Given the description of an element on the screen output the (x, y) to click on. 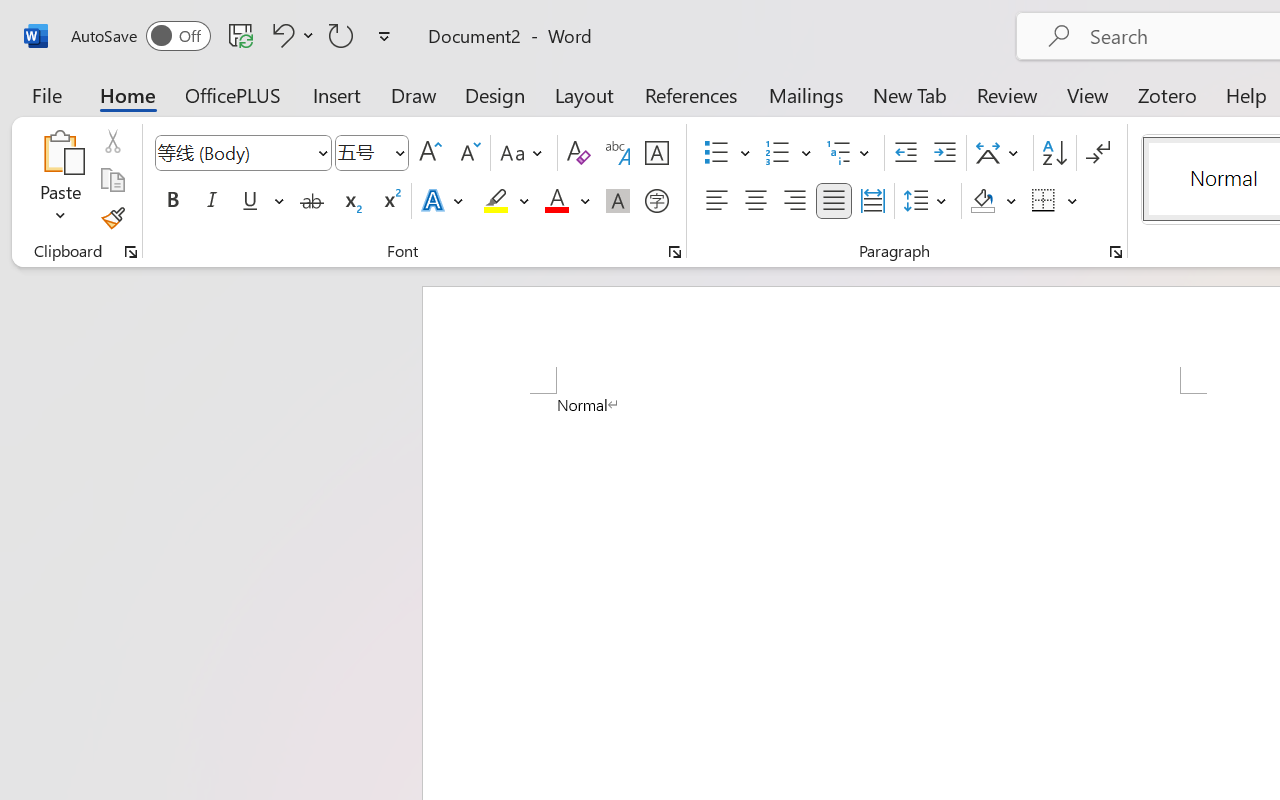
Shrink Font (468, 153)
Strikethrough (312, 201)
Undo Apply Quick Style (290, 35)
Font Size (372, 153)
Shading RGB(0, 0, 0) (982, 201)
Layout (584, 94)
Format Painter (112, 218)
Align Right (794, 201)
Decrease Indent (906, 153)
Font (234, 152)
Review (1007, 94)
Sort... (1054, 153)
Font Size (362, 152)
Enclose Characters... (656, 201)
Bullets (727, 153)
